Given the description of an element on the screen output the (x, y) to click on. 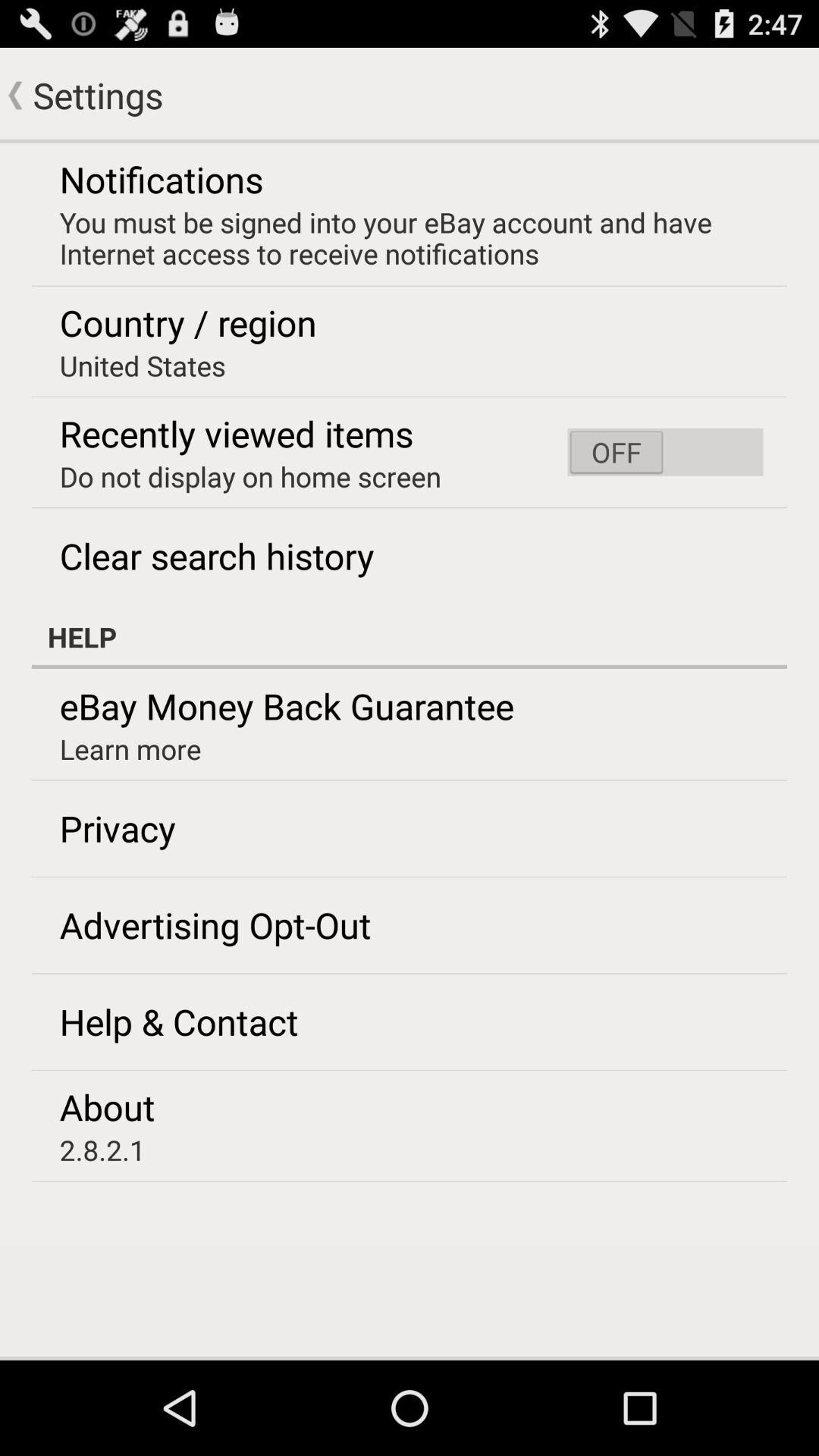
press the app below you must be (665, 451)
